Given the description of an element on the screen output the (x, y) to click on. 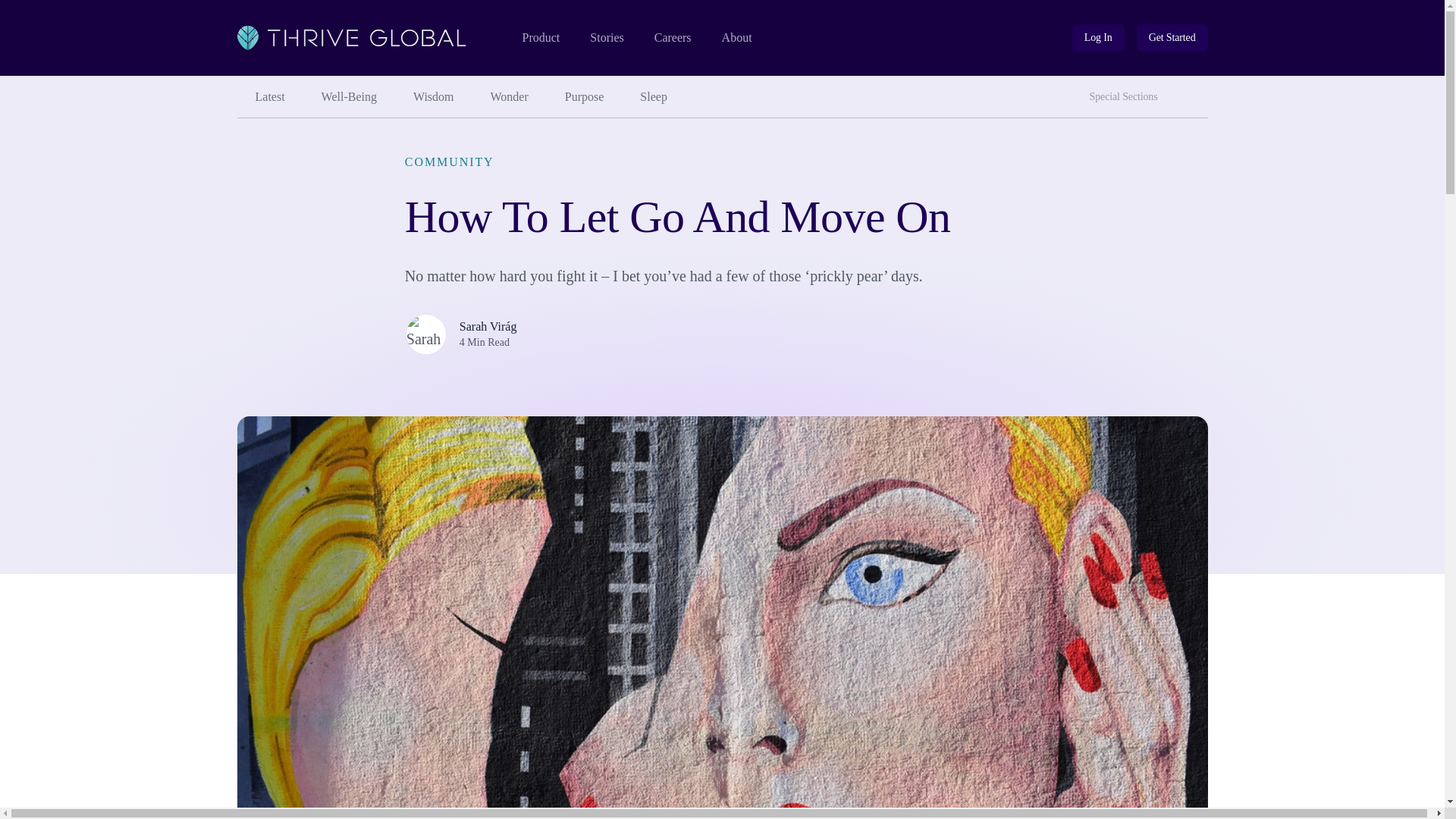
Careers (672, 37)
Log In (1097, 37)
Purpose (585, 96)
Product (540, 37)
Special Sections (1126, 97)
Get Started (1172, 37)
About (737, 37)
btn-primary (1172, 37)
Latest (1193, 91)
